Given the description of an element on the screen output the (x, y) to click on. 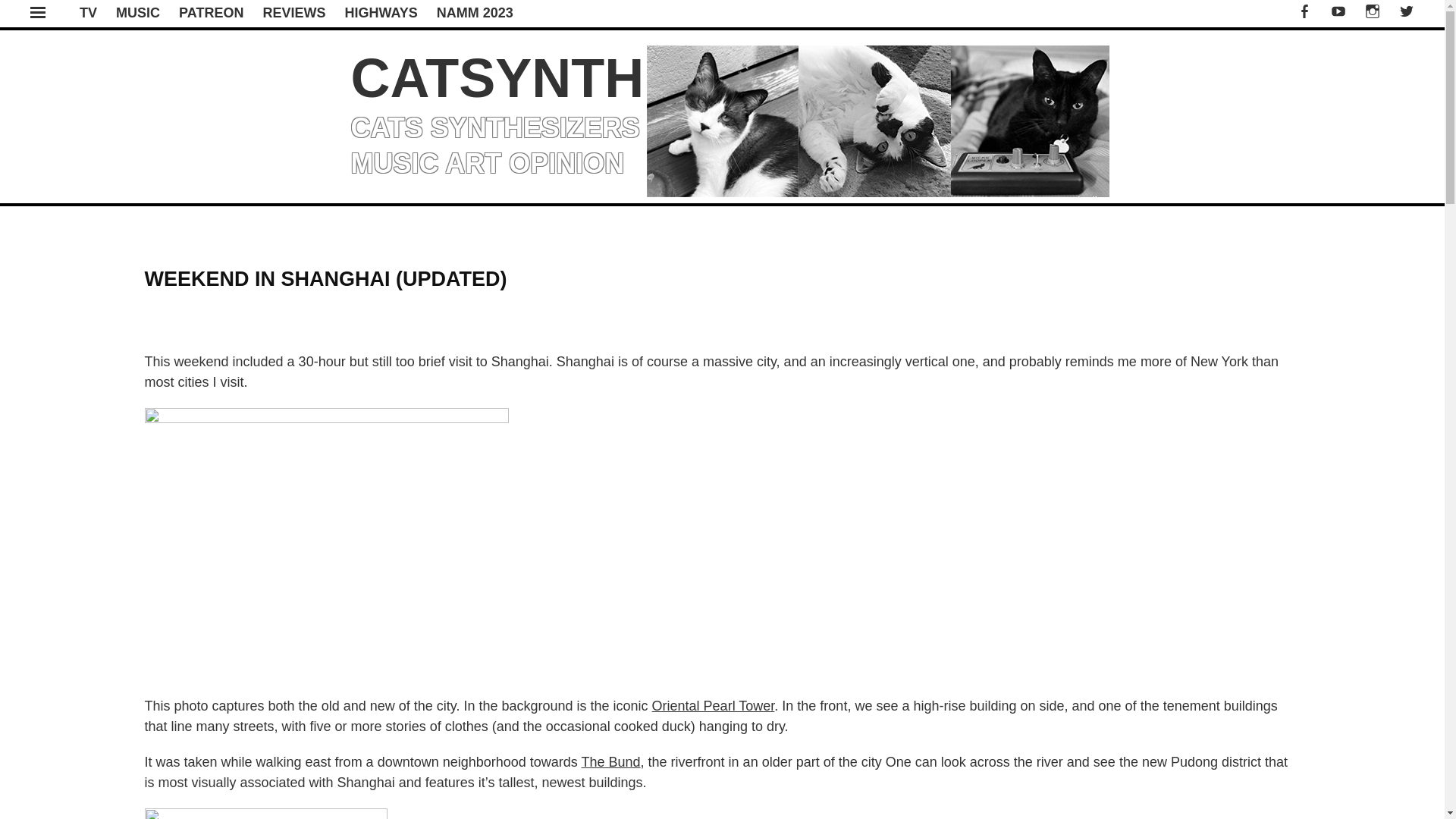
NAMM 2023 (474, 12)
REVIEWS (293, 12)
HIGHWAYS (379, 12)
CATSYNTH (496, 77)
TV (88, 12)
MUSIC (138, 12)
PATREON (211, 12)
